Given the description of an element on the screen output the (x, y) to click on. 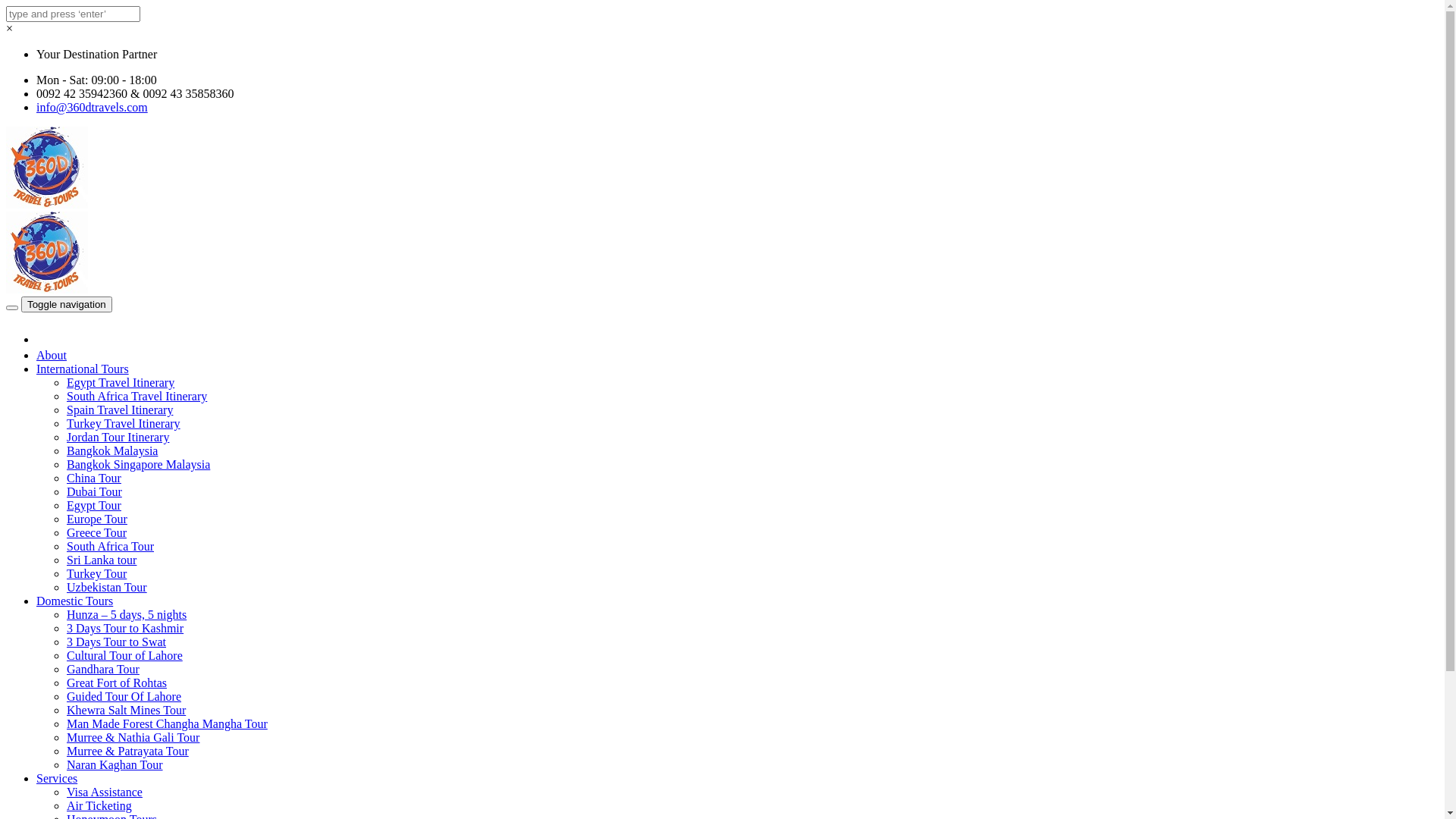
Naran Kaghan Tour Element type: text (114, 764)
Europe Tour Element type: text (96, 518)
Air Ticketing Element type: text (98, 805)
Greece Tour Element type: text (96, 532)
Bangkok Singapore Malaysia Element type: text (138, 464)
About Element type: text (51, 354)
Sri Lanka tour Element type: text (101, 559)
3 Days Tour to Kashmir Element type: text (124, 627)
Guided Tour Of Lahore Element type: text (123, 696)
Toggle navigation Element type: text (66, 304)
Spain Travel Itinerary Element type: text (119, 409)
Murree & Nathia Gali Tour Element type: text (132, 737)
China Tour Element type: text (93, 477)
Gandhara Tour Element type: text (102, 668)
South Africa Travel Itinerary Element type: text (136, 395)
Great Fort of Rohtas Element type: text (116, 682)
Services Element type: text (56, 777)
Turkey Travel Itinerary Element type: text (123, 423)
Khewra Salt Mines Tour Element type: text (125, 709)
info@360dtravels.com Element type: text (91, 106)
Turkey Tour Element type: text (96, 573)
Domestic Tours Element type: text (74, 600)
Bangkok Malaysia Element type: text (111, 450)
Murree & Patrayata Tour Element type: text (127, 750)
Cultural Tour of Lahore Element type: text (124, 655)
Egypt Tour Element type: text (93, 504)
Dubai Tour Element type: text (94, 491)
International Tours Element type: text (82, 368)
Uzbekistan Tour Element type: text (106, 586)
3 Days Tour to Swat Element type: text (116, 641)
Visa Assistance Element type: text (104, 791)
South Africa Tour Element type: text (109, 545)
Man Made Forest Changha Mangha Tour Element type: text (166, 723)
Jordan Tour Itinerary Element type: text (117, 436)
Egypt Travel Itinerary Element type: text (120, 382)
